Given the description of an element on the screen output the (x, y) to click on. 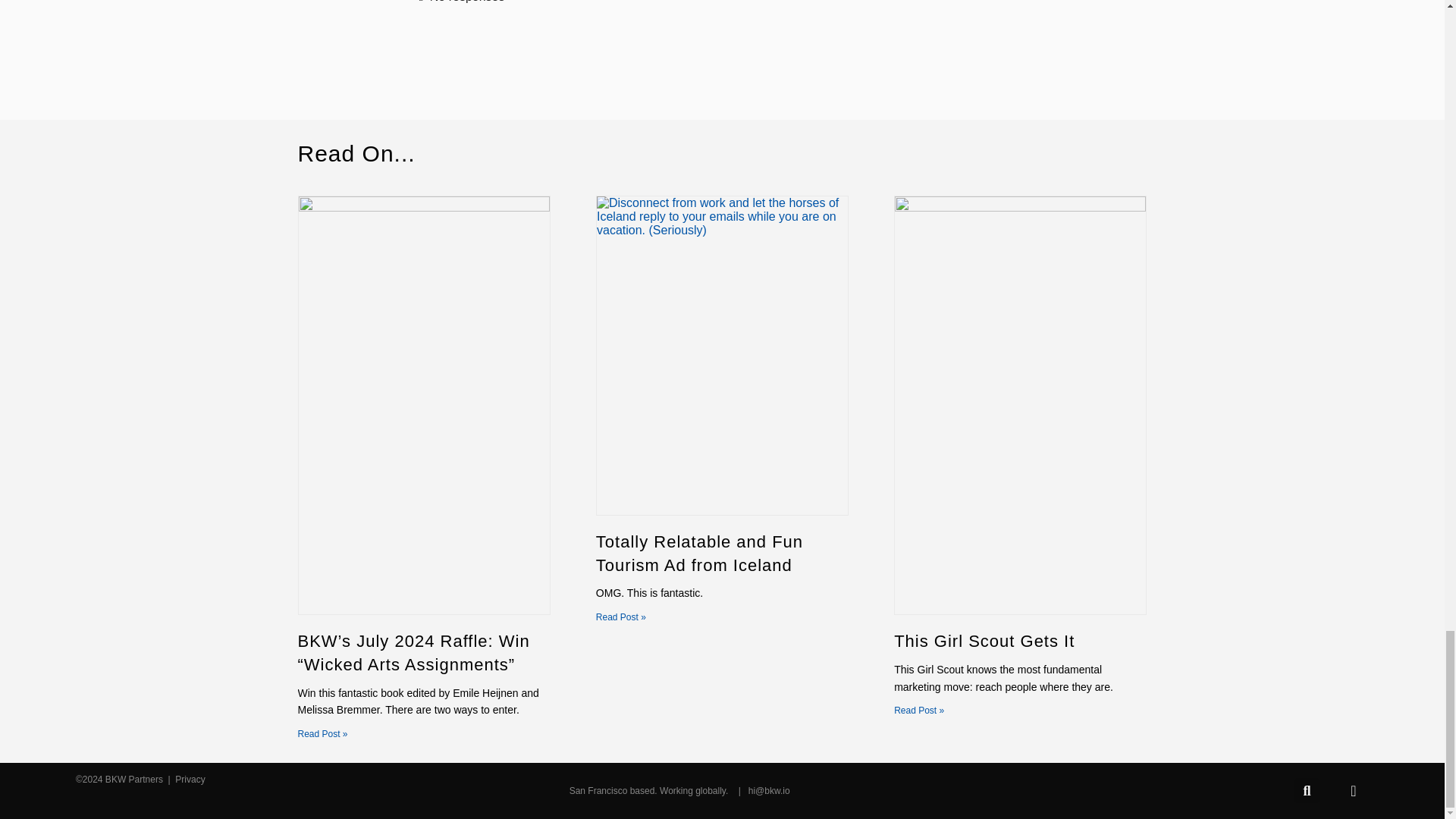
Totally Relatable and Fun Tourism Ad from Iceland (699, 553)
This Girl Scout Gets It (983, 640)
 Privacy (189, 778)
